Given the description of an element on the screen output the (x, y) to click on. 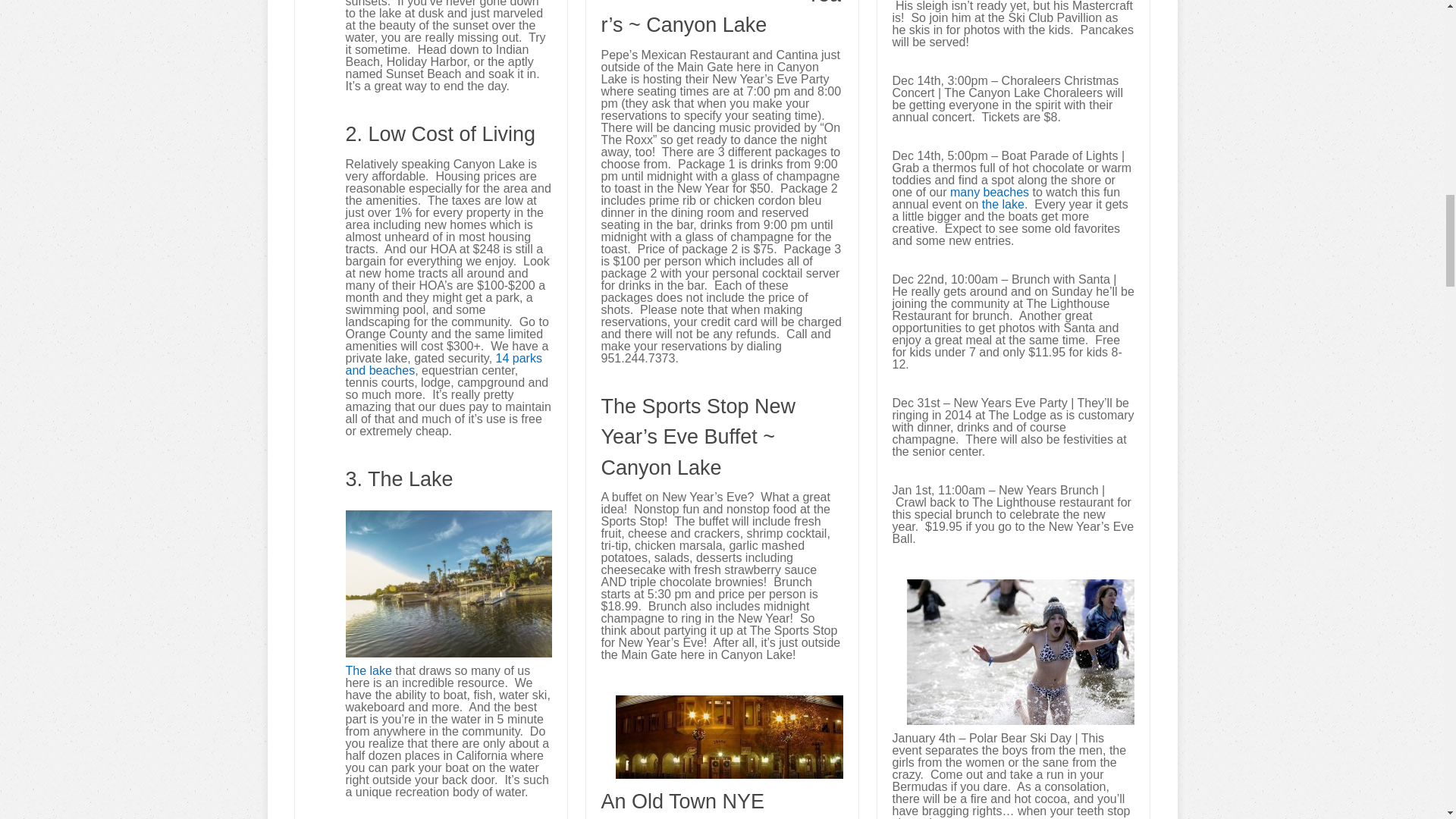
many beaches (989, 191)
Parks (443, 364)
the lake (1003, 203)
The Lake (368, 670)
Beaches (989, 191)
The Lake (1003, 203)
